Given the description of an element on the screen output the (x, y) to click on. 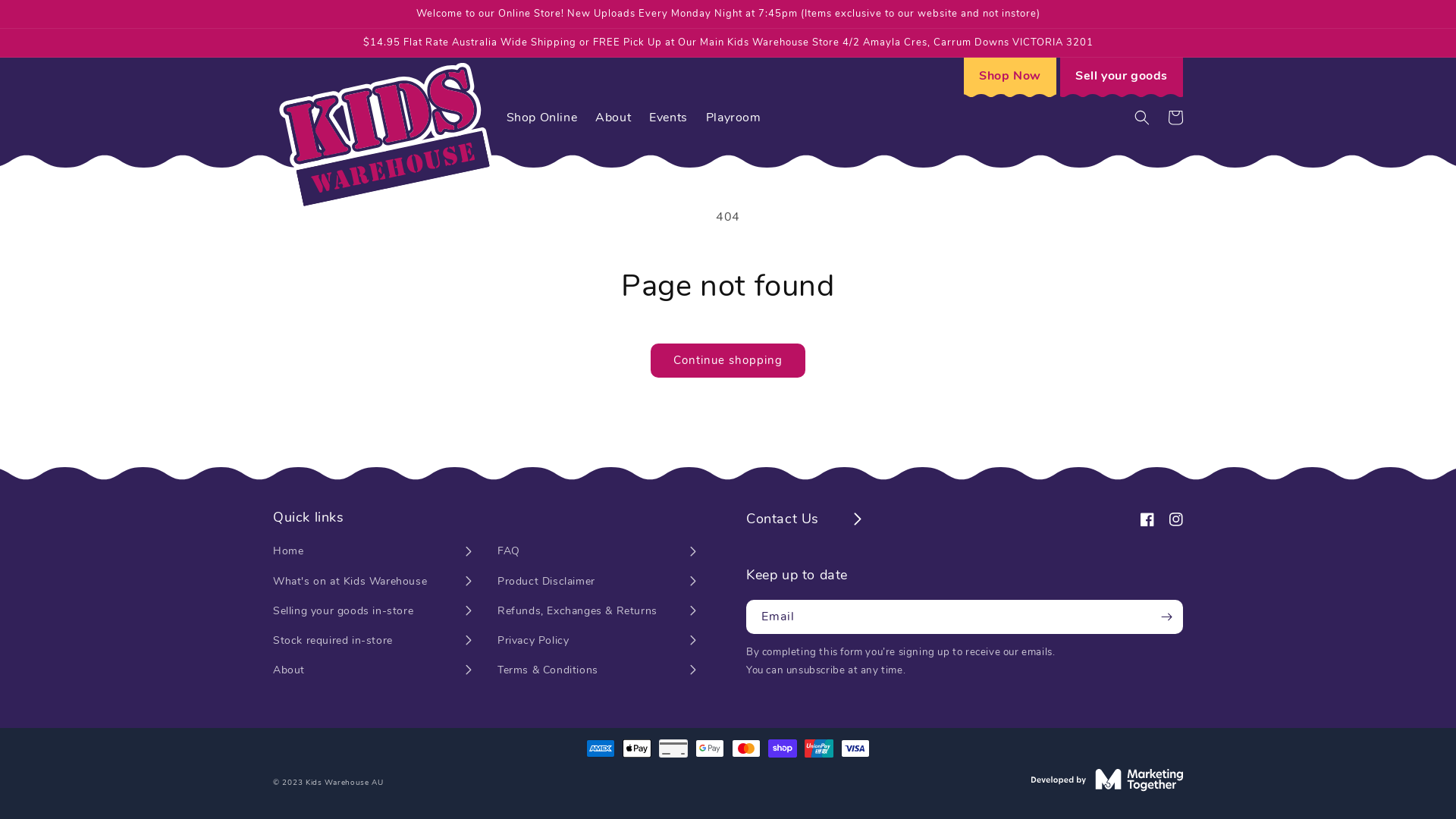
FAQ Element type: text (597, 556)
Facebook Element type: text (1139, 517)
Privacy Policy Element type: text (597, 645)
Contact Us Element type: text (805, 518)
Sell your goods Element type: text (1121, 77)
Refunds, Exchanges & Returns Element type: text (597, 615)
Product Disclaimer Element type: text (597, 586)
Continue shopping Element type: text (727, 360)
Shop Now Element type: text (1009, 77)
What's on at Kids Warehouse Element type: text (373, 586)
Kids Warehouse AU Element type: text (344, 782)
Shop Online Element type: text (541, 117)
Instagram Element type: text (1168, 517)
Home Element type: text (373, 556)
Selling your goods in-store Element type: text (373, 615)
About Element type: text (613, 117)
Stock required in-store Element type: text (373, 645)
About Element type: text (373, 675)
Terms & Conditions Element type: text (597, 675)
Playroom Element type: text (733, 117)
Events Element type: text (668, 117)
Cart Element type: text (1175, 117)
